Given the description of an element on the screen output the (x, y) to click on. 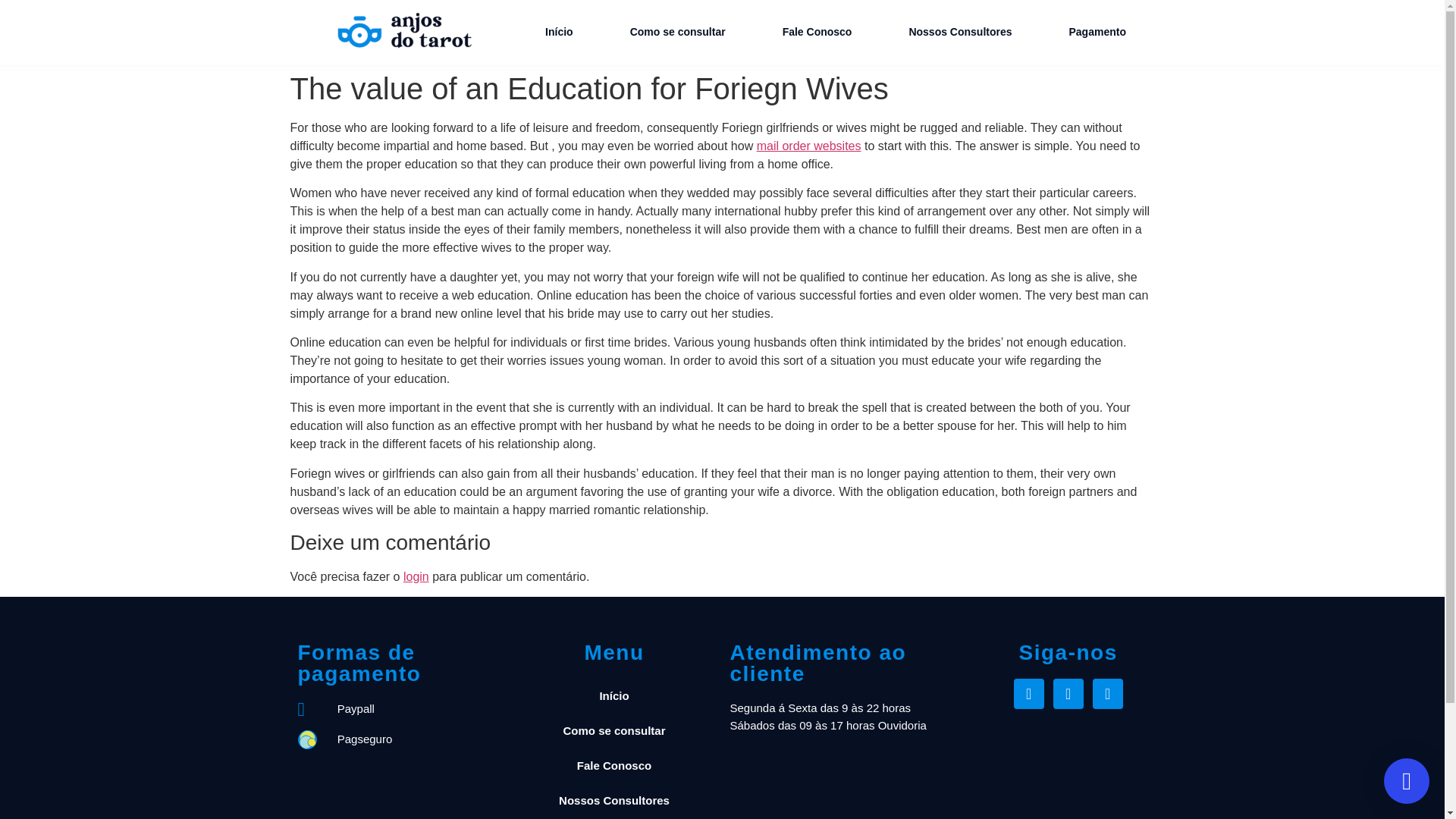
Fale Conosco (817, 31)
Pagamento (1097, 31)
Nossos Consultores (960, 31)
Como se consultar (677, 31)
